Given the description of an element on the screen output the (x, y) to click on. 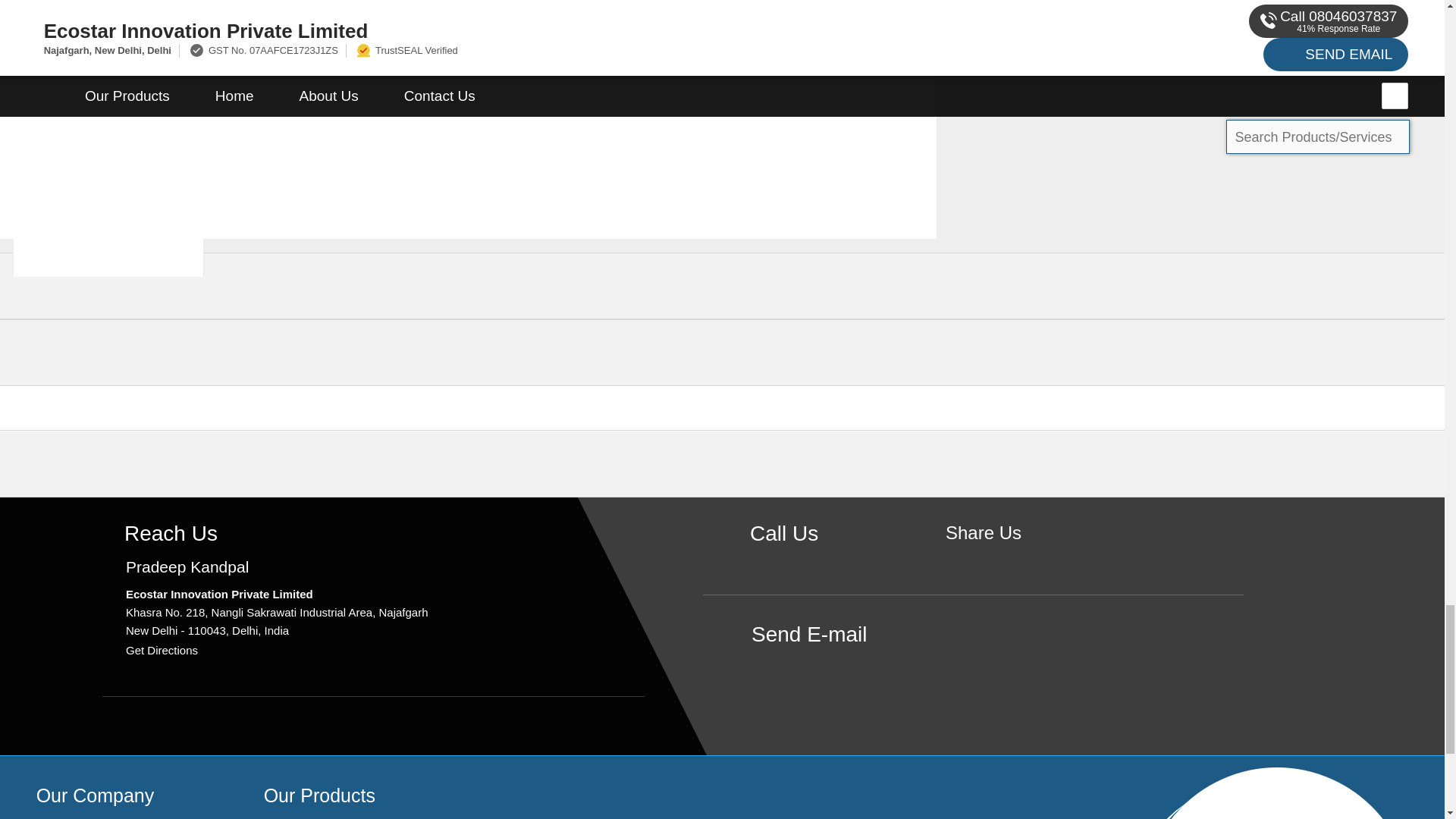
LinkedIn (1029, 558)
Twitter (1006, 558)
E-Rickshaw Lithium Battery Charger (108, 72)
Facebook (983, 558)
Our Products (319, 794)
Get Directions (161, 649)
